Given the description of an element on the screen output the (x, y) to click on. 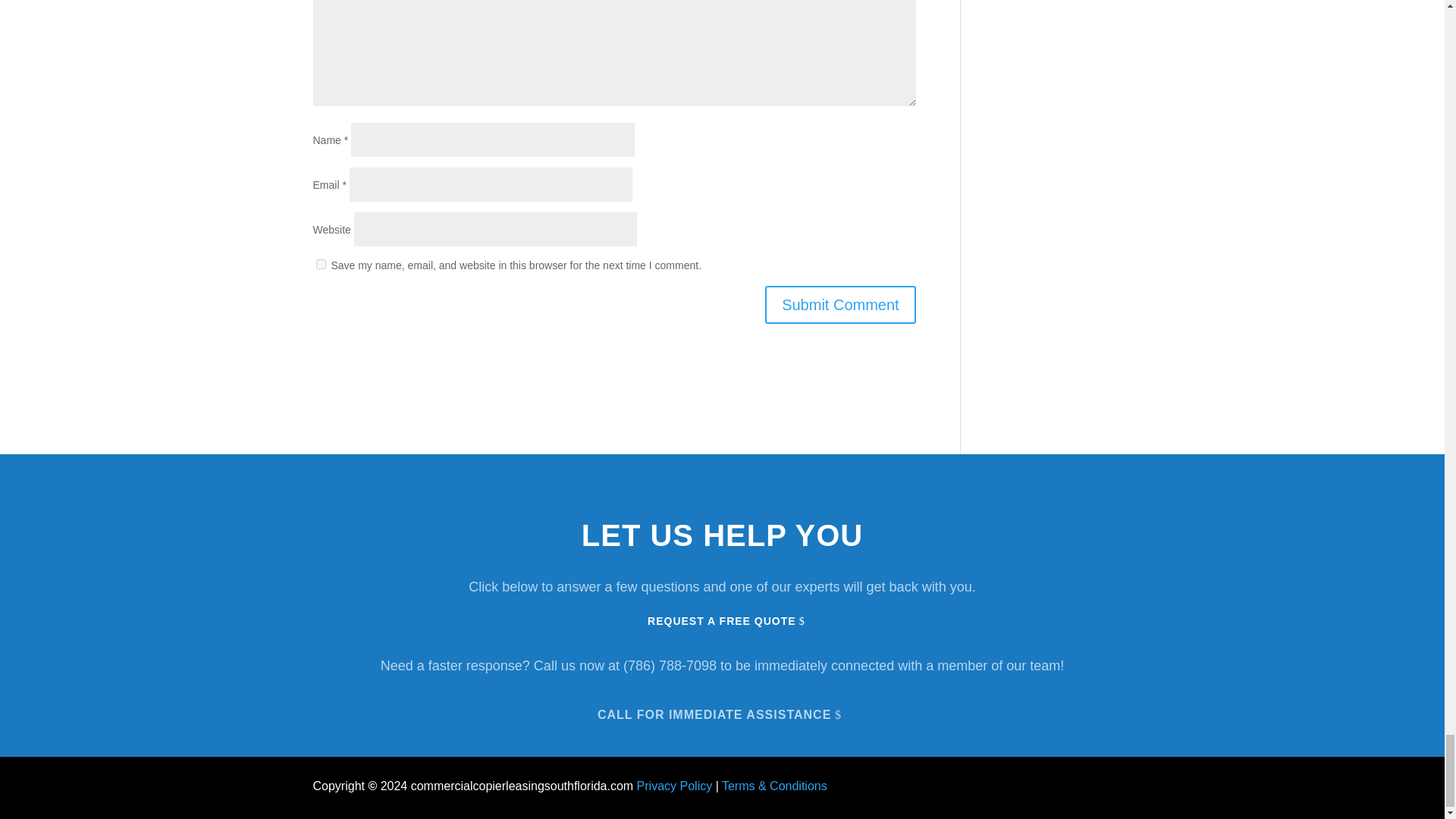
Submit Comment (840, 304)
CALL FOR IMMEDIATE ASSISTANCE (721, 712)
Submit Comment (840, 304)
yes (319, 264)
REQUEST A FREE QUOTE (721, 621)
Privacy Policy (675, 785)
